Given the description of an element on the screen output the (x, y) to click on. 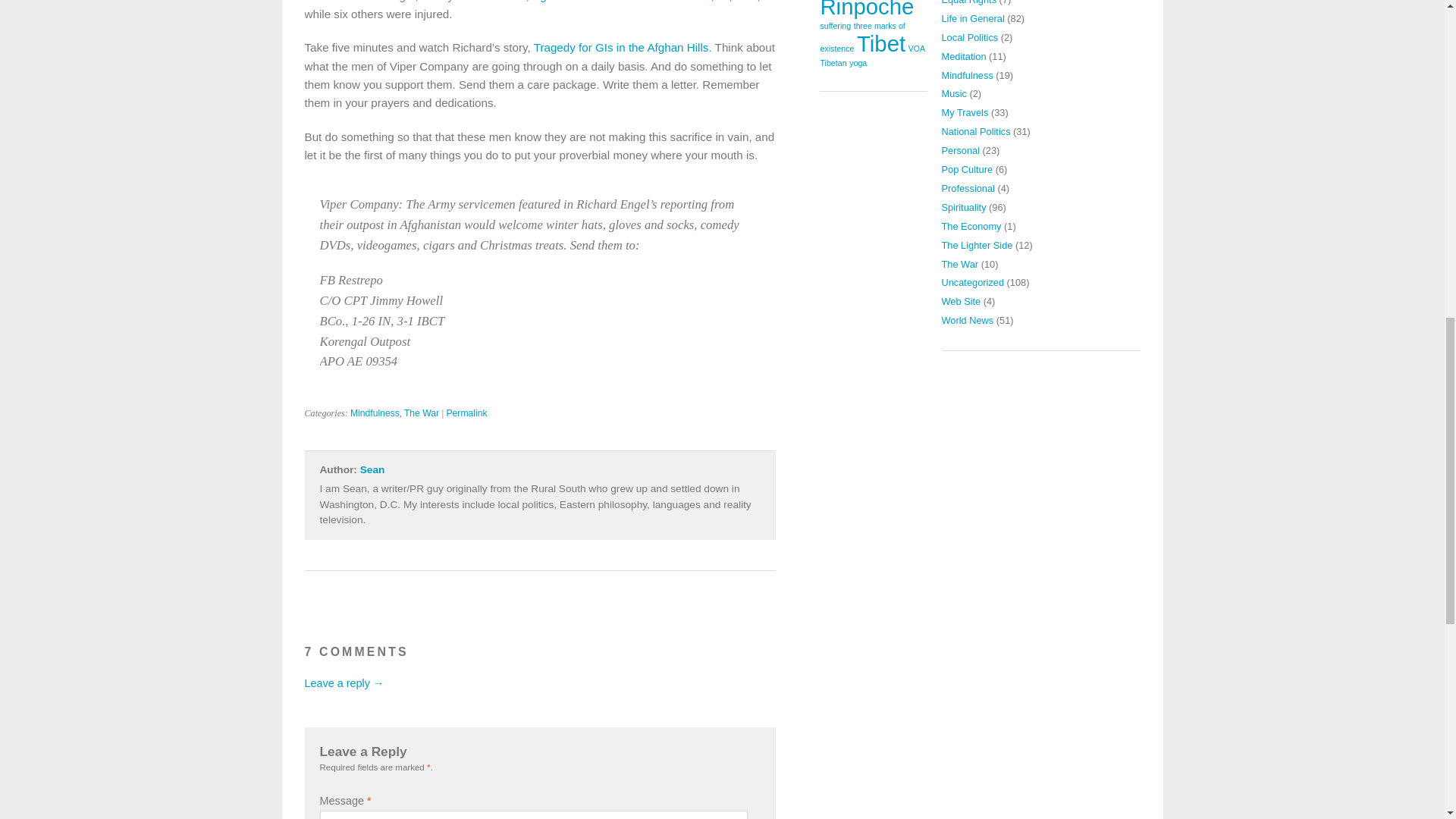
The War (421, 412)
Tragedy for GIs in the Afghan Hills (621, 47)
Permalink (465, 412)
Sean (372, 469)
Mindfulness (374, 412)
Sean (372, 469)
